Given the description of an element on the screen output the (x, y) to click on. 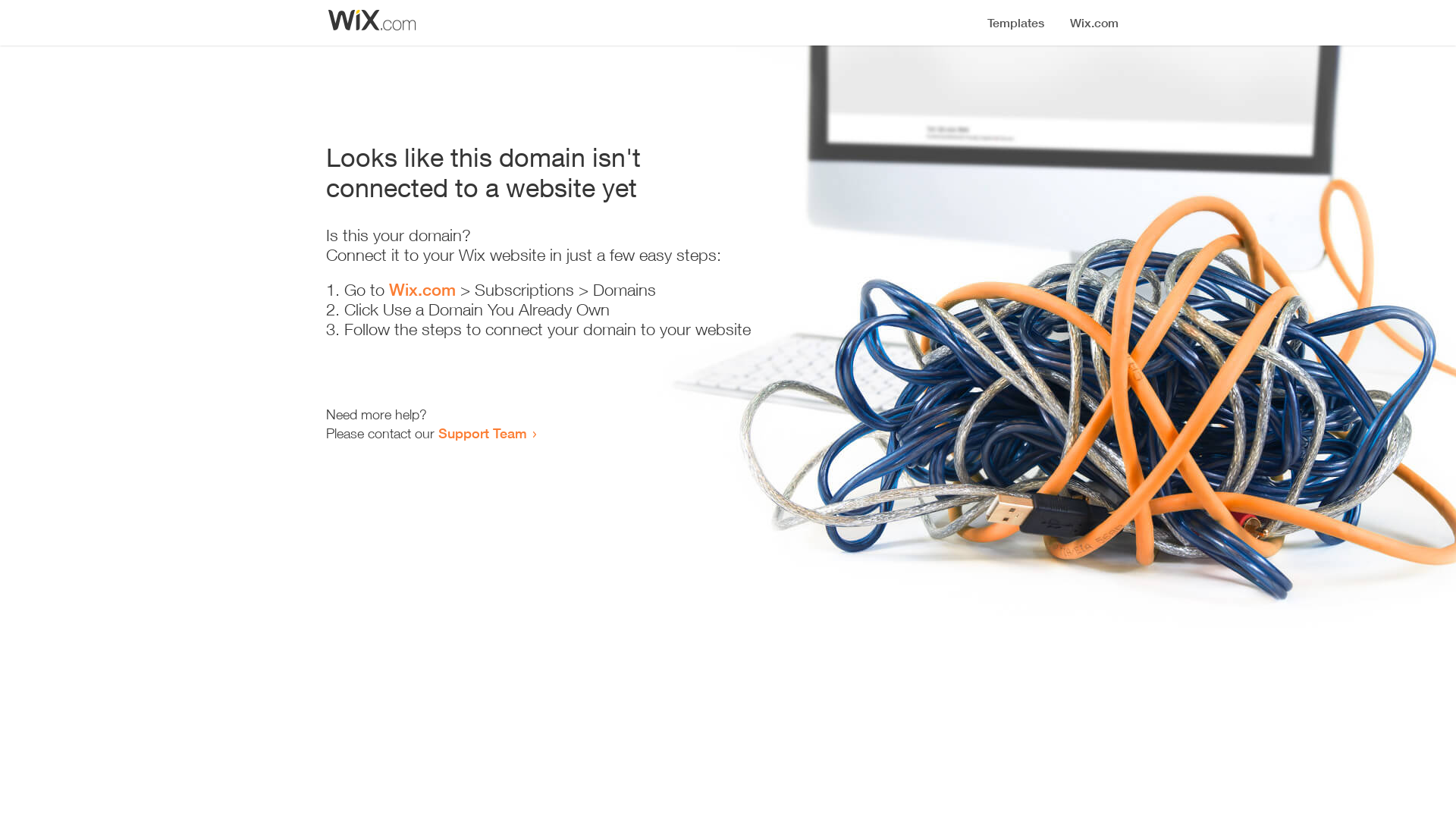
Support Team Element type: text (482, 432)
Wix.com Element type: text (422, 289)
